Given the description of an element on the screen output the (x, y) to click on. 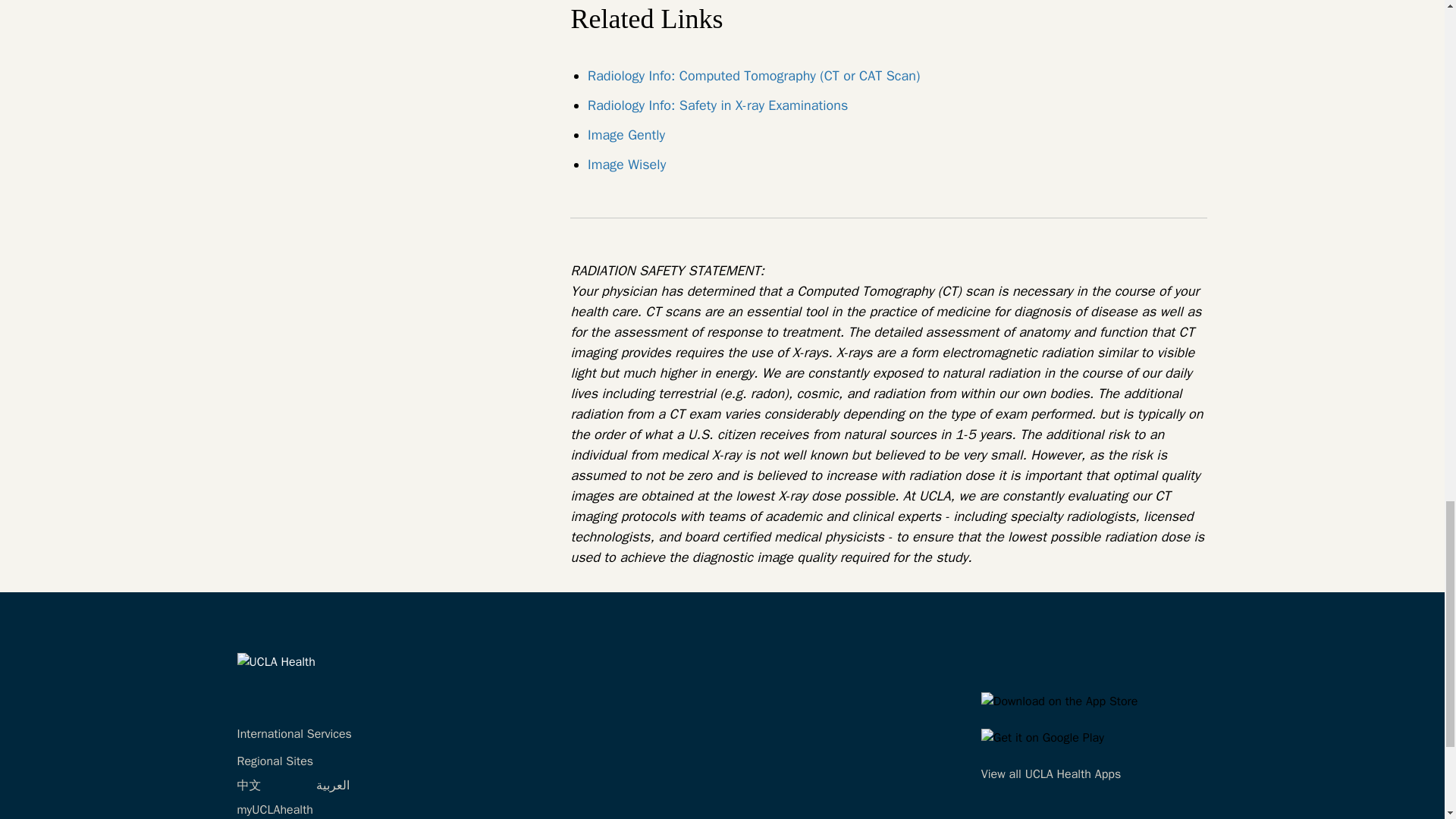
Radiology Info: Safety in X-ray (717, 105)
Radiology Info (754, 75)
myUCLAhealth Login. (274, 809)
Image Wisely (626, 164)
Image Gently (626, 134)
